Given the description of an element on the screen output the (x, y) to click on. 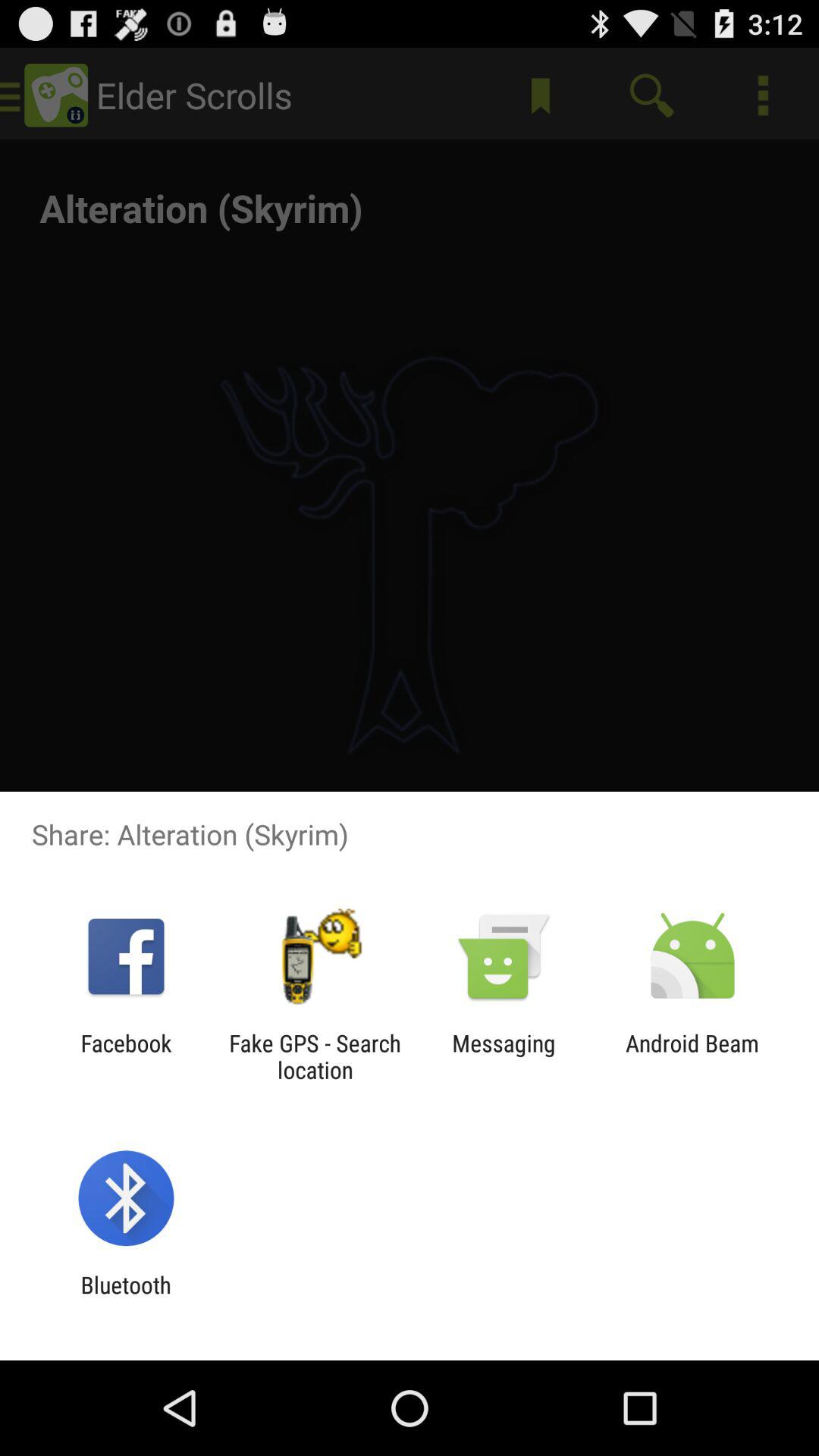
turn on the icon to the left of the messaging (314, 1056)
